Given the description of an element on the screen output the (x, y) to click on. 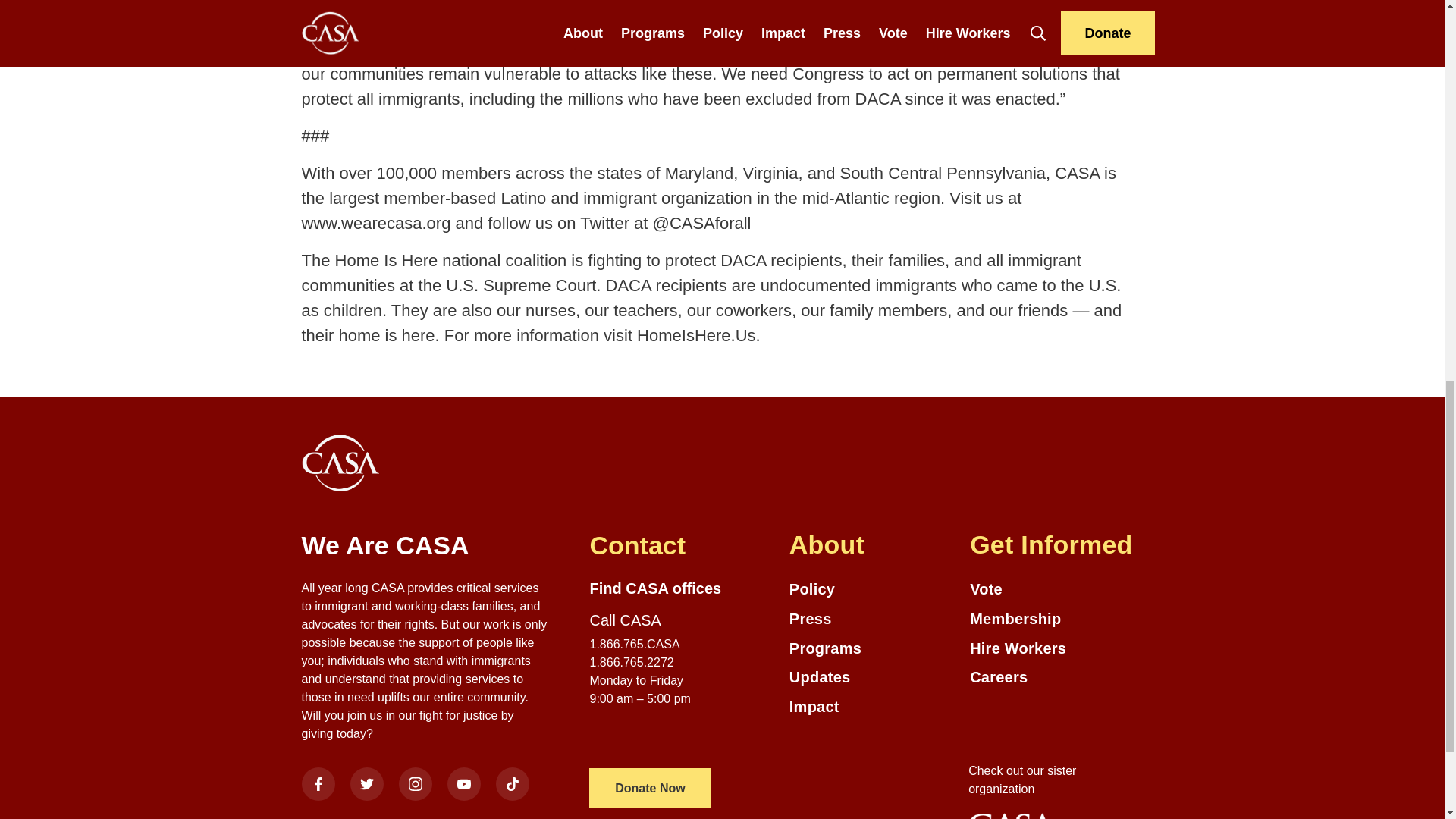
About (872, 544)
Contact (673, 545)
Impact (872, 707)
Press (872, 618)
Updates (872, 677)
Programs (872, 649)
Find CASA offices (654, 588)
We Are CASA (424, 545)
Policy (872, 589)
